Given the description of an element on the screen output the (x, y) to click on. 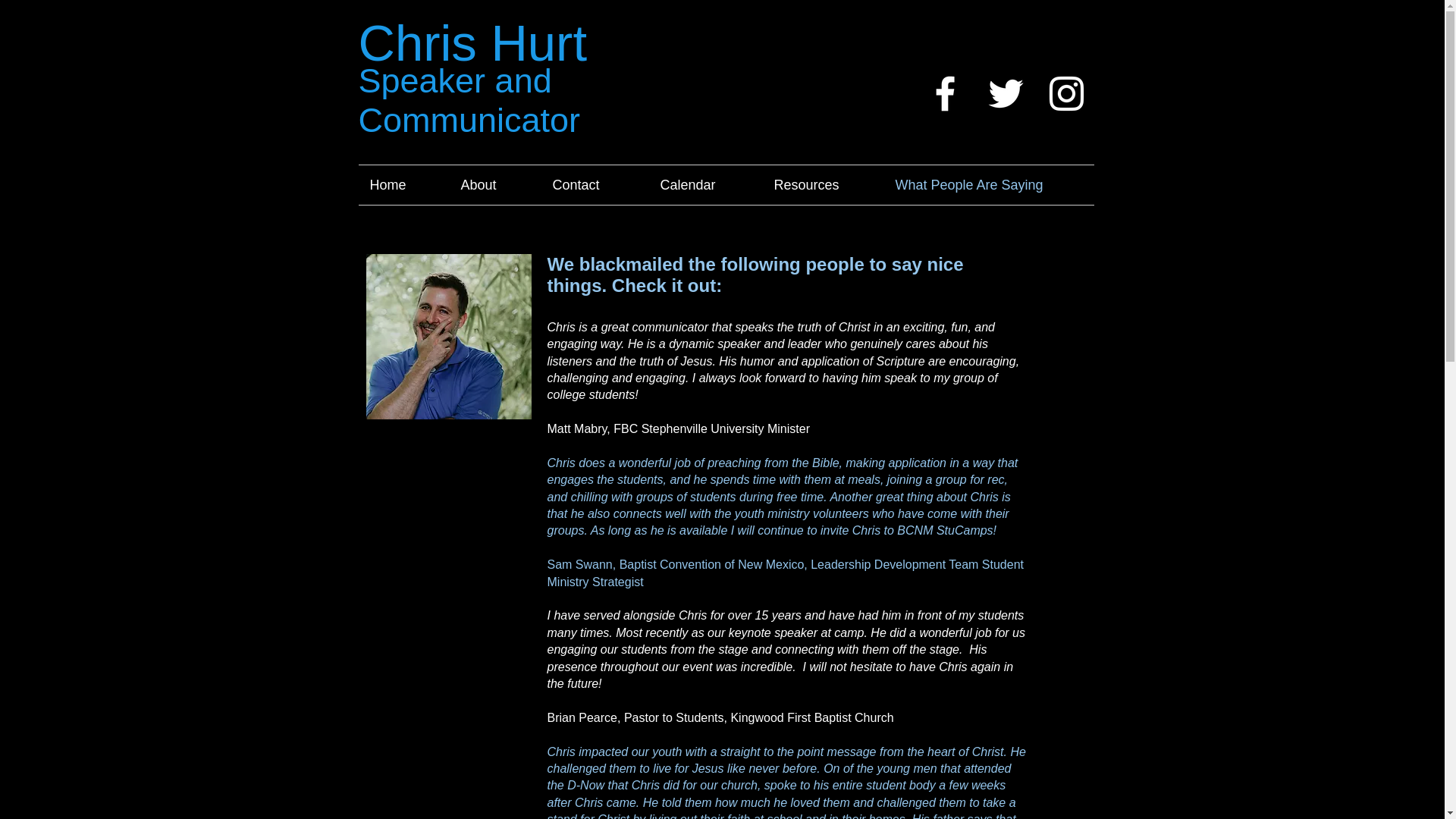
What People Are Saying (988, 184)
Contact (595, 184)
Resources (822, 184)
About (494, 184)
Calendar (705, 184)
Home (403, 184)
